Given the description of an element on the screen output the (x, y) to click on. 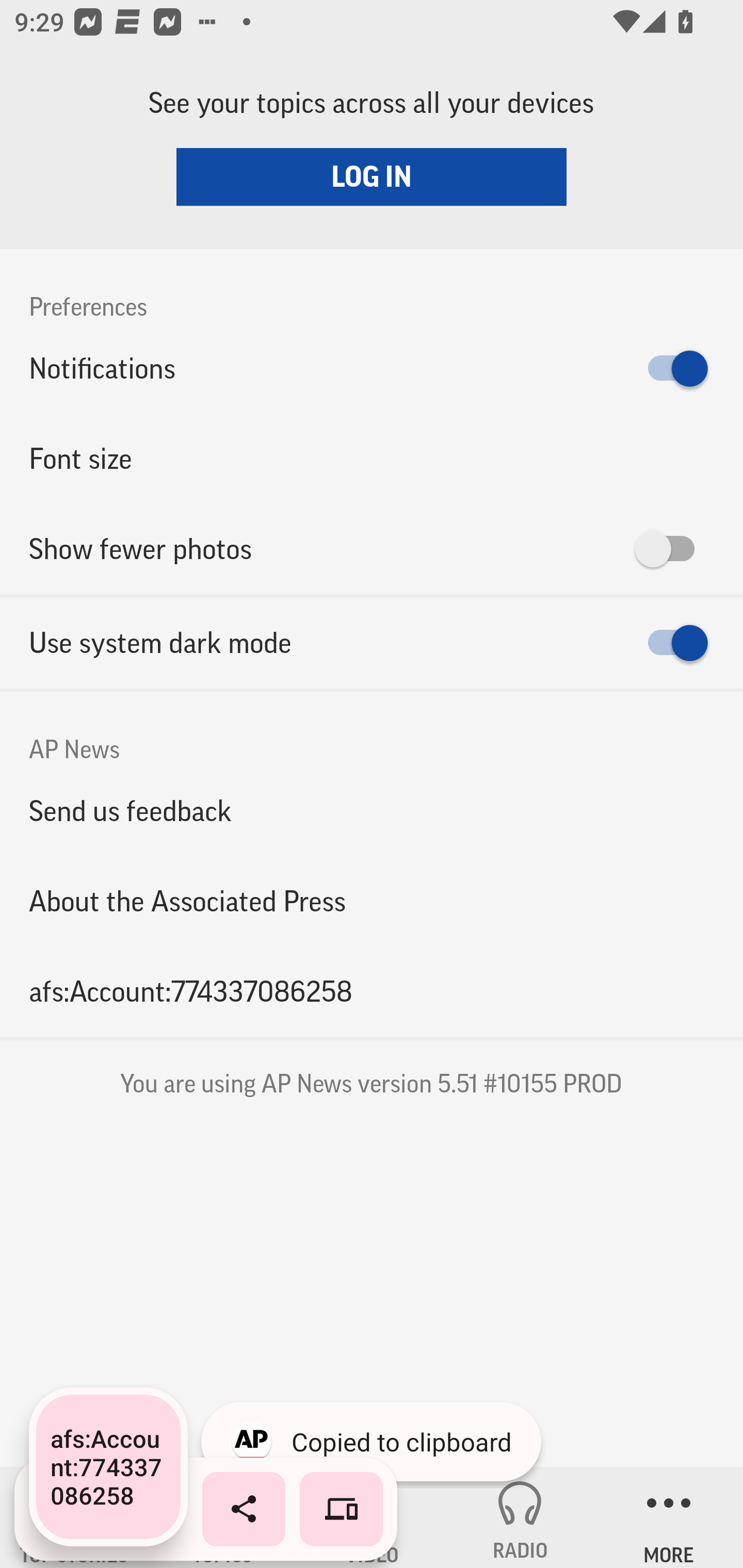
LOG IN (371, 176)
Notifications (371, 368)
Font size (371, 458)
Show fewer photos (371, 548)
Use system dark mode (371, 642)
Send us feedback (371, 810)
About the Associated Press (371, 901)
afs:Account:774337086258 (371, 991)
TOPICS (222, 1517)
VIDEO (371, 1517)
RADIO (519, 1517)
MORE (668, 1517)
